Given the description of an element on the screen output the (x, y) to click on. 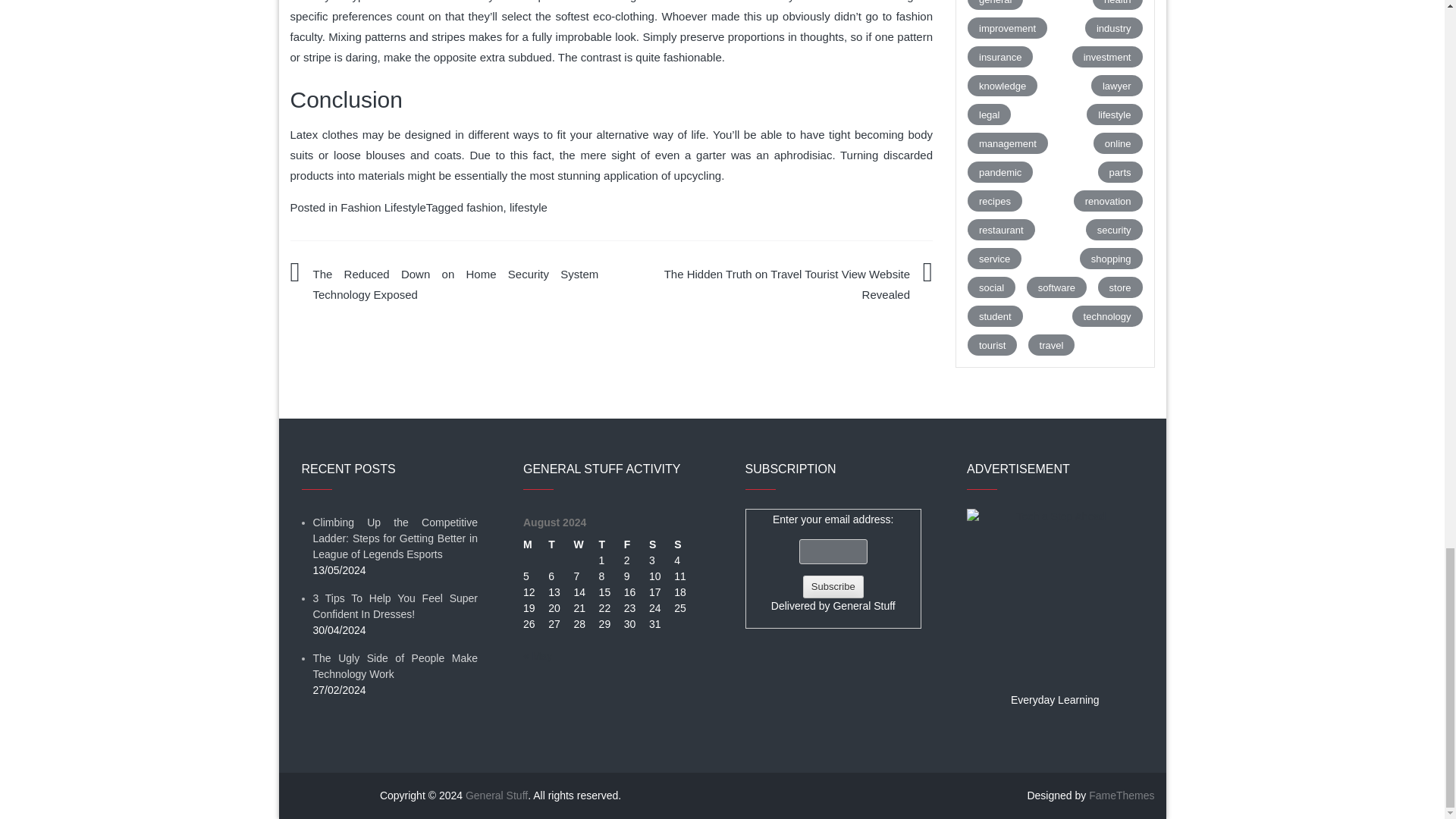
Tech a Step Ahead (1054, 596)
Thursday (611, 544)
Saturday (661, 544)
Sunday (686, 544)
Wednesday (585, 544)
Monday (535, 544)
Subscribe (833, 586)
Tuesday (560, 544)
Friday (636, 544)
